Given the description of an element on the screen output the (x, y) to click on. 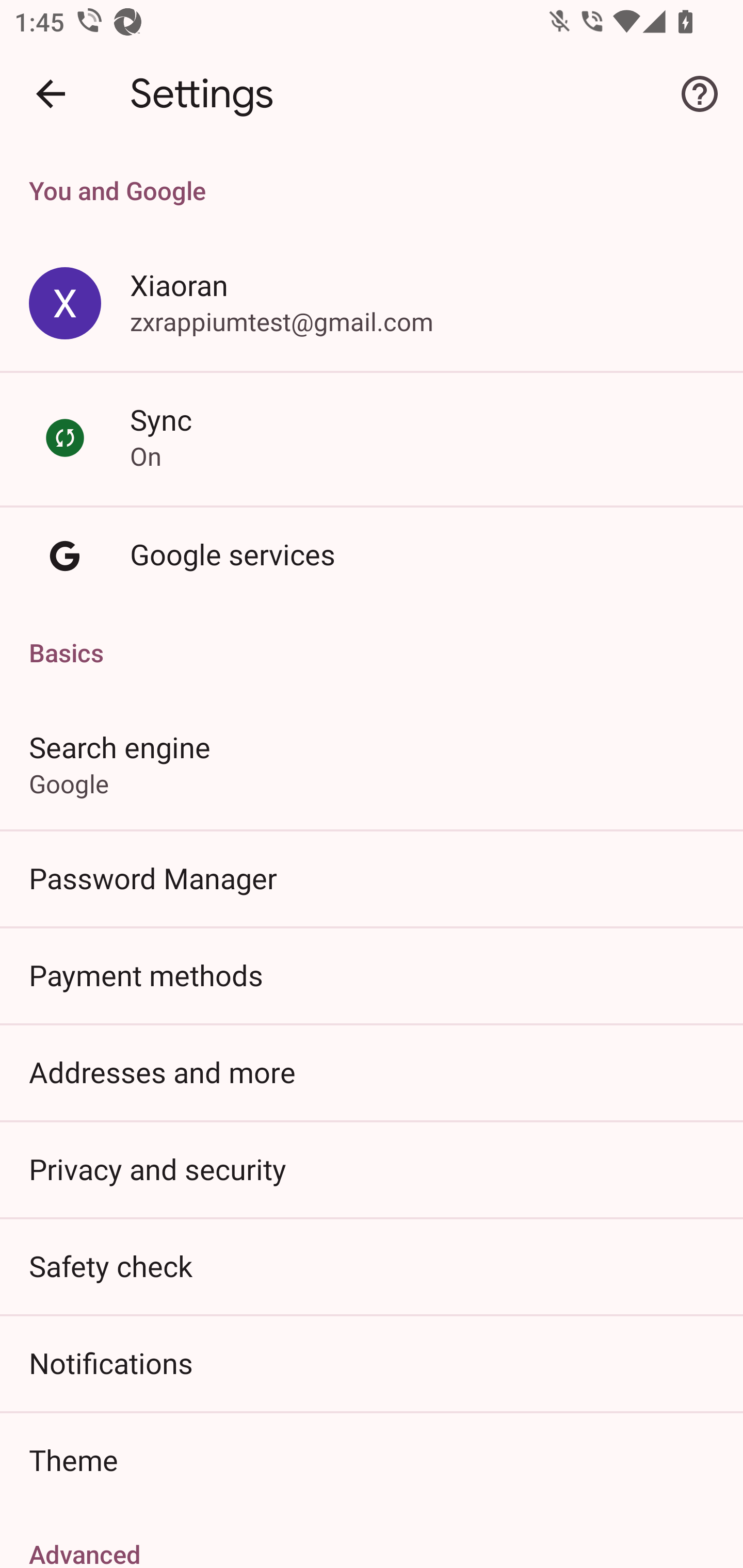
Navigate up (50, 93)
Help & feedback (699, 93)
Xiaoran zxrappiumtest@gmail.com (371, 303)
Sync On (371, 437)
Google services (371, 555)
Search engine Google (371, 763)
Password Manager (371, 877)
Payment methods (371, 974)
Addresses and more (371, 1071)
Privacy and security (371, 1167)
Safety check (371, 1264)
Notifications (371, 1362)
Theme (371, 1459)
